Given the description of an element on the screen output the (x, y) to click on. 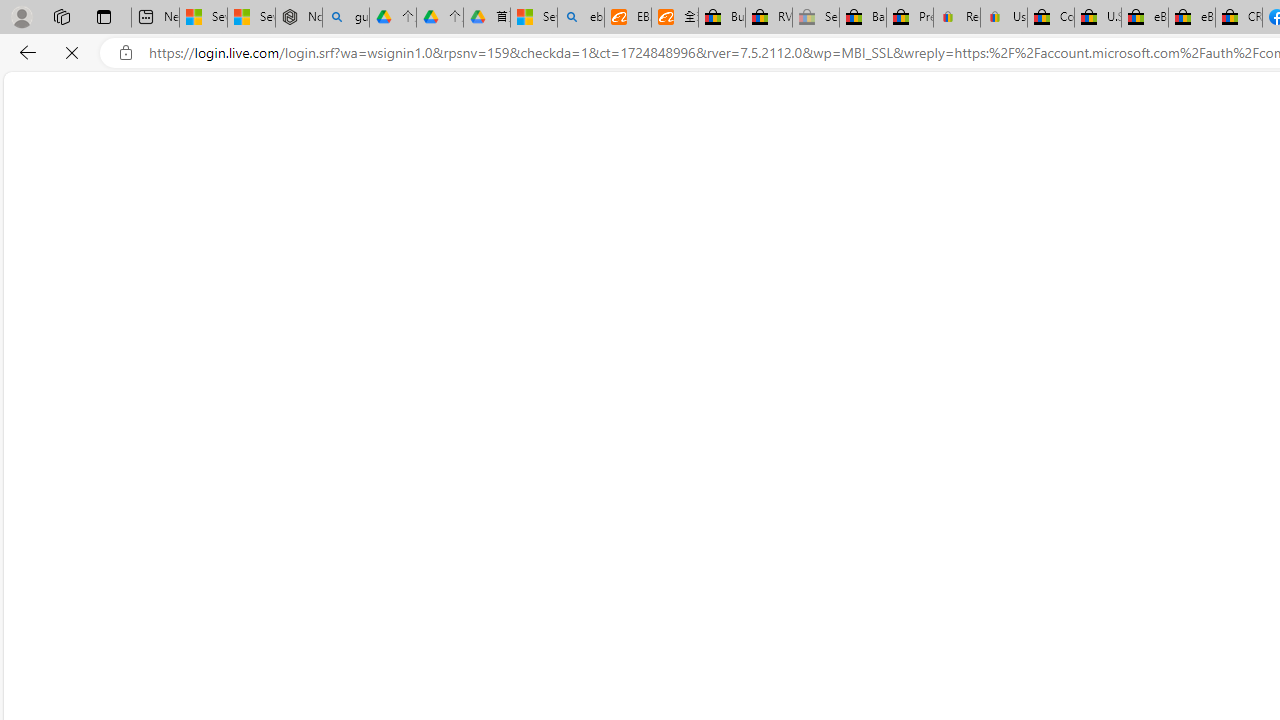
eBay Inc. Reports Third Quarter 2023 Results (1191, 17)
Register: Create a personal eBay account (957, 17)
Consumer Health Data Privacy Policy - eBay Inc. (1050, 17)
Sell worldwide with eBay - Sleeping (815, 17)
Press Room - eBay Inc. (910, 17)
